Given the description of an element on the screen output the (x, y) to click on. 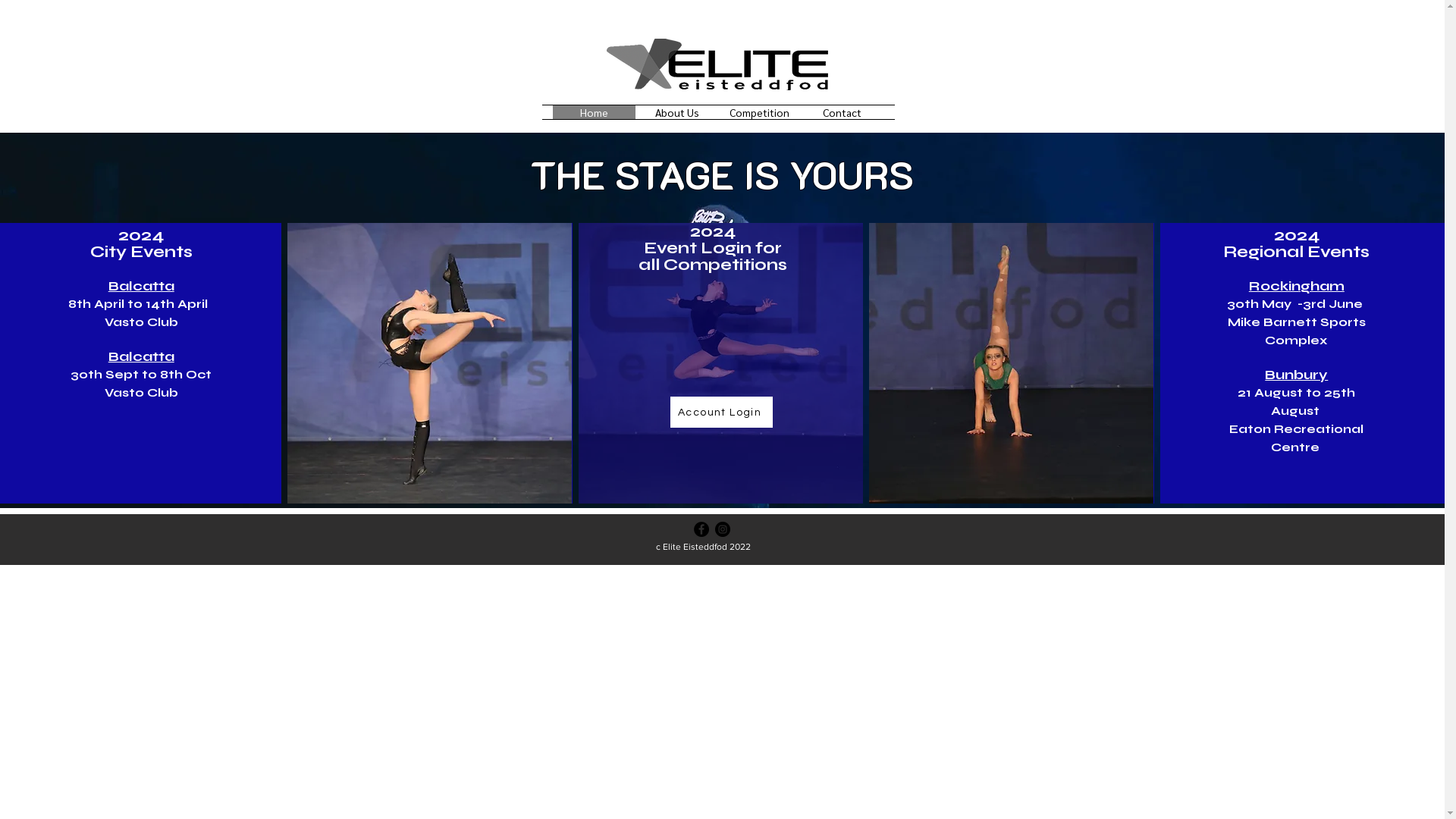
Contact Element type: text (841, 112)
Competition Element type: text (759, 112)
Home Element type: text (593, 112)
image001.png Element type: hover (717, 64)
About Us Element type: text (676, 112)
Account Login Element type: text (721, 411)
